Given the description of an element on the screen output the (x, y) to click on. 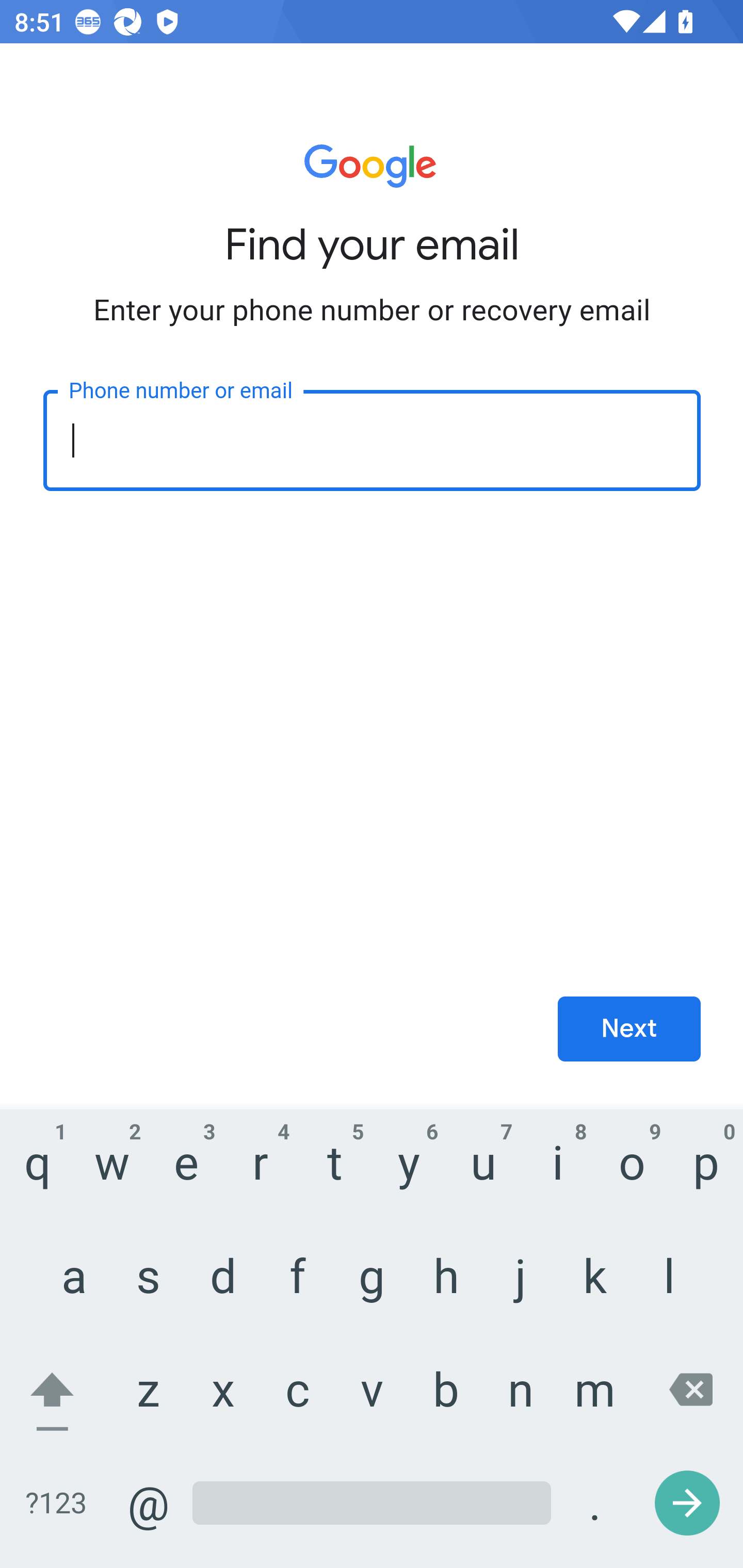
Next (629, 1029)
